Given the description of an element on the screen output the (x, y) to click on. 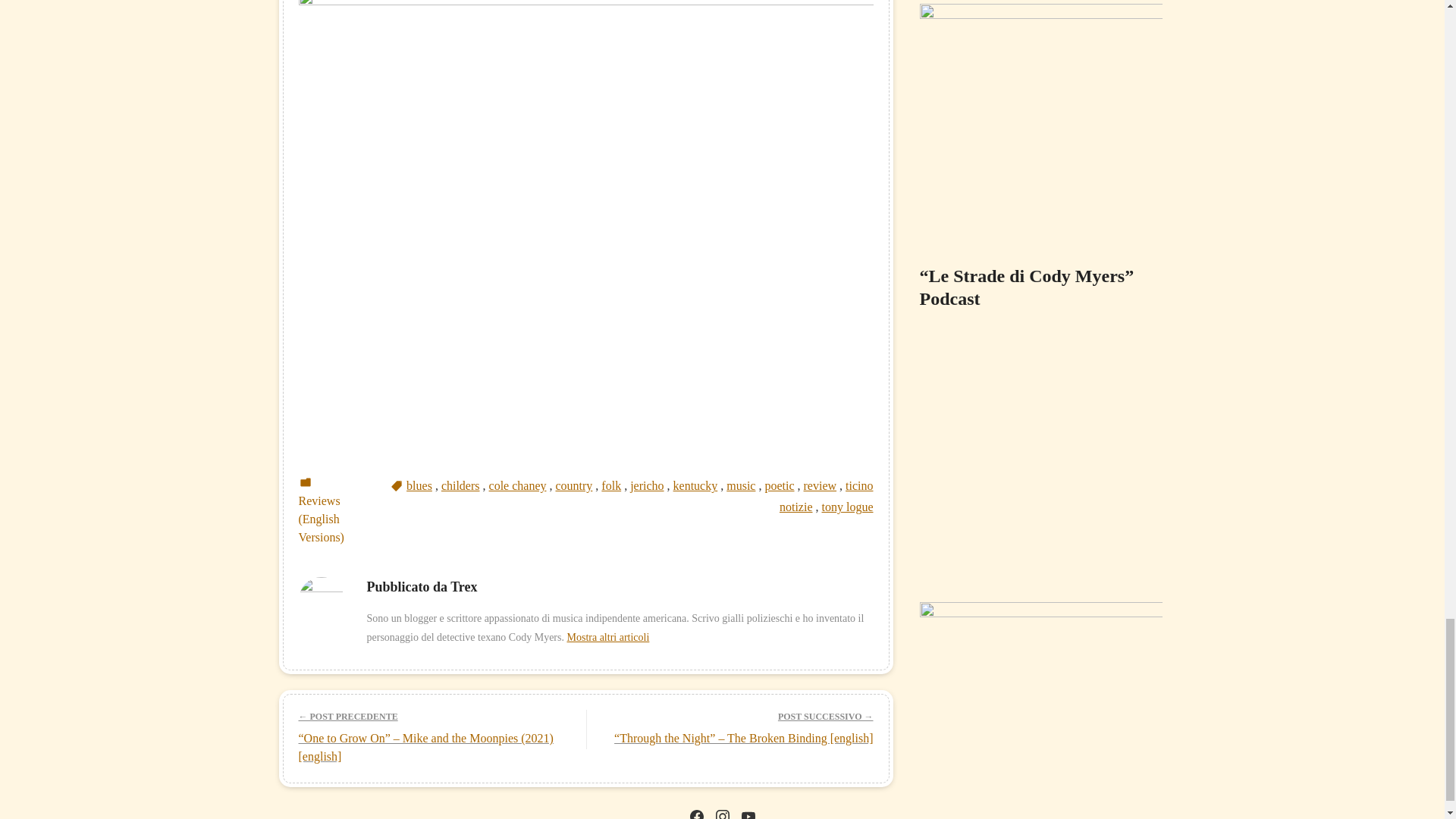
blues (419, 485)
jericho (646, 485)
poetic (778, 485)
kentucky (694, 485)
music (740, 485)
ticino notizie (825, 496)
Mostra altri articoli (607, 636)
cole chaney (518, 485)
childers (460, 485)
review (820, 485)
